Given the description of an element on the screen output the (x, y) to click on. 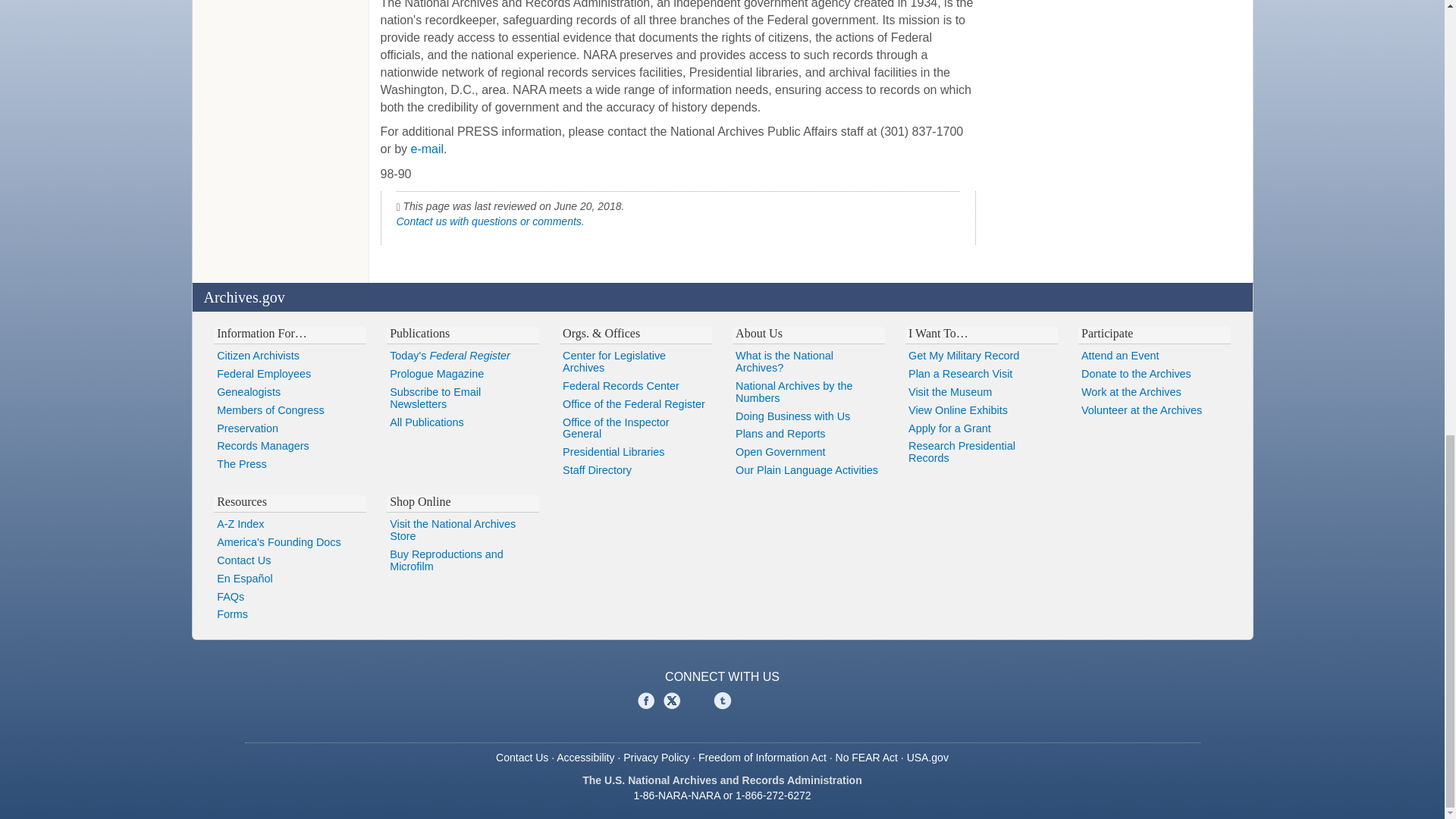
Federal Employees (290, 374)
e-mail (427, 148)
Citizen Archivists (290, 356)
Contact us with questions or comments (488, 221)
